Given the description of an element on the screen output the (x, y) to click on. 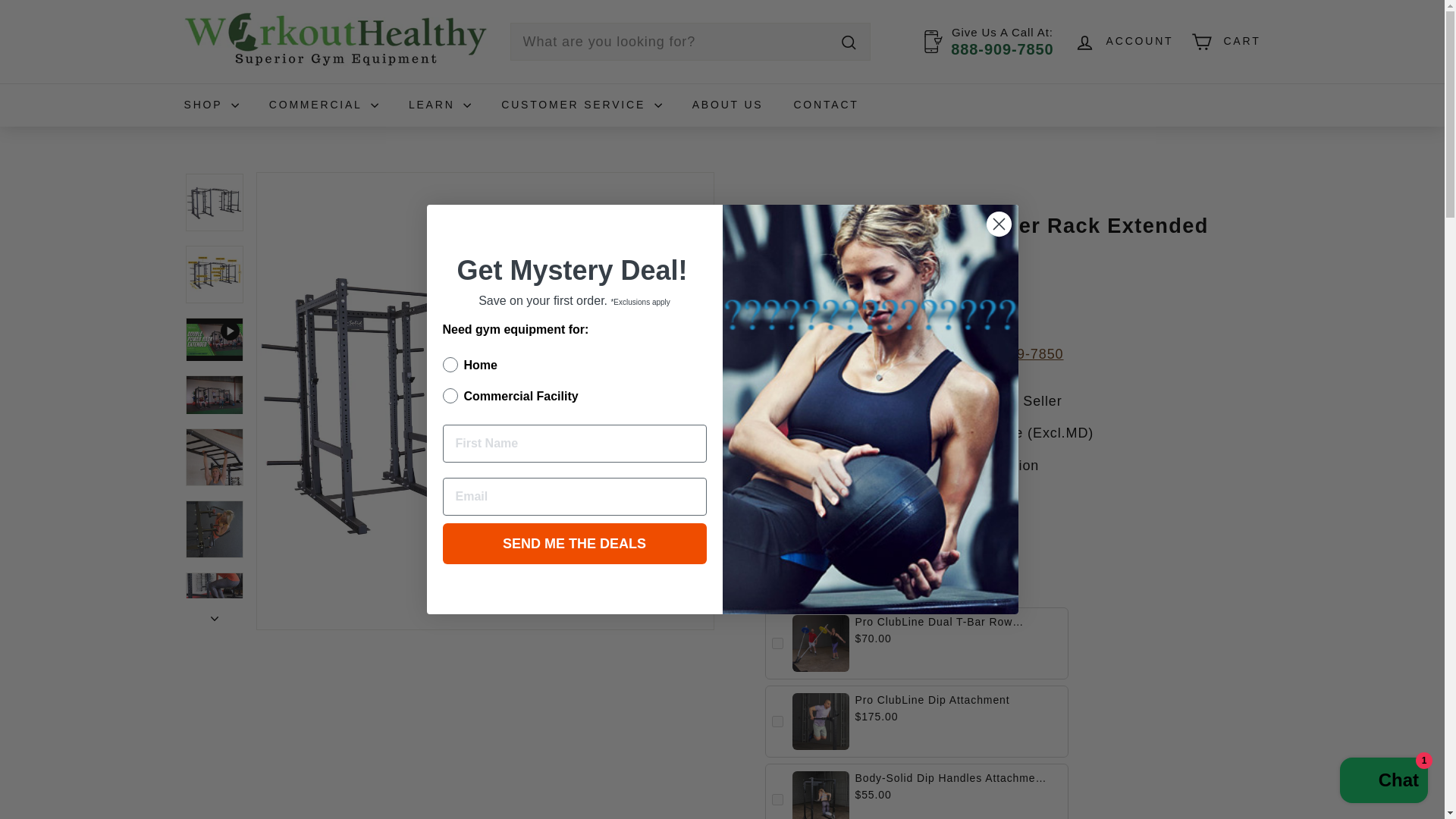
on (447, 383)
ACCOUNT (1123, 41)
on (777, 799)
on (777, 721)
Shopify online store chat (1383, 781)
on (447, 352)
on (777, 643)
888-909-7850 (1001, 48)
CART (1225, 41)
